Given the description of an element on the screen output the (x, y) to click on. 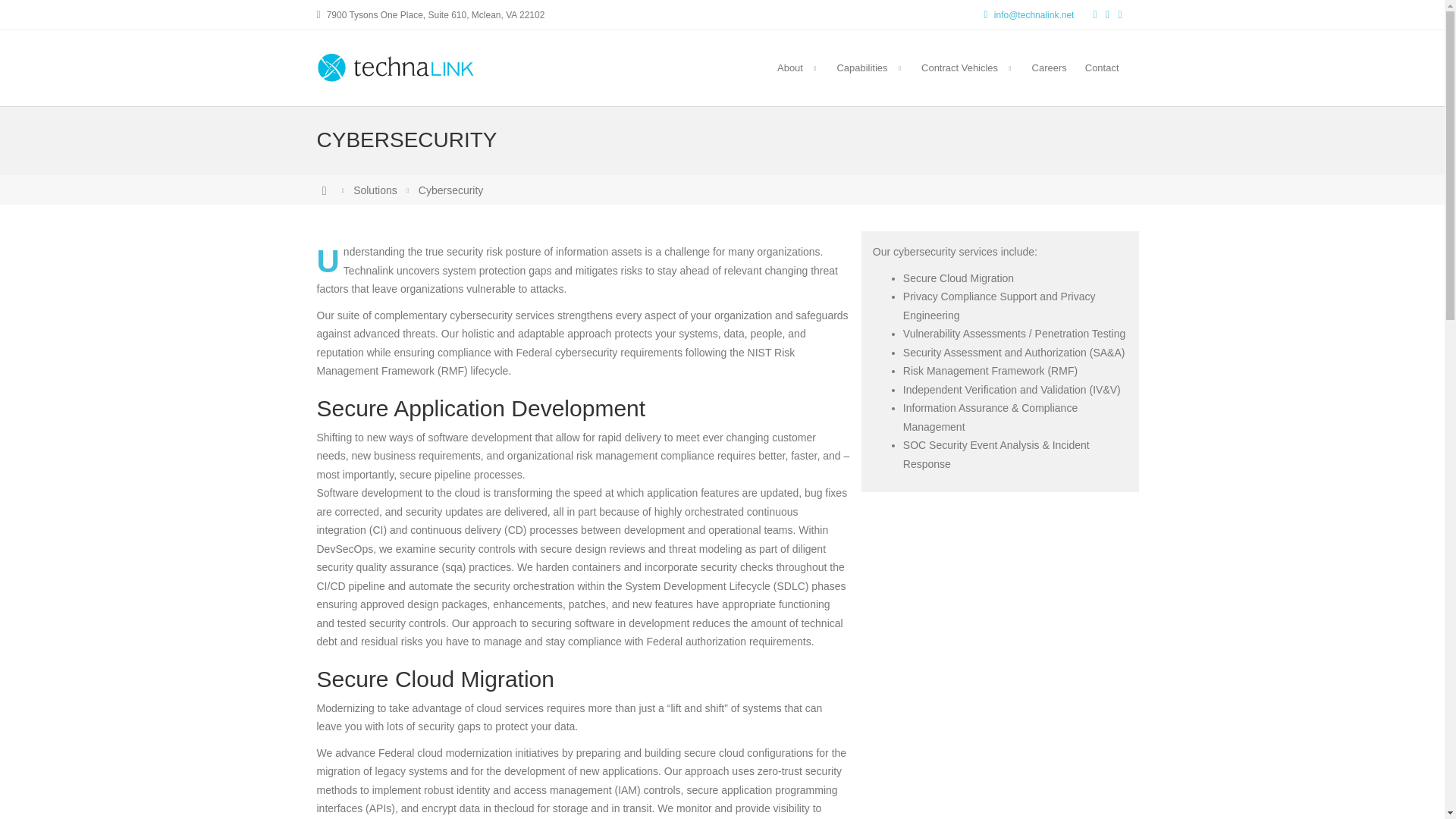
Capabilities (869, 68)
Solutions (375, 190)
Contract Vehicles (967, 68)
Home (325, 190)
